Given the description of an element on the screen output the (x, y) to click on. 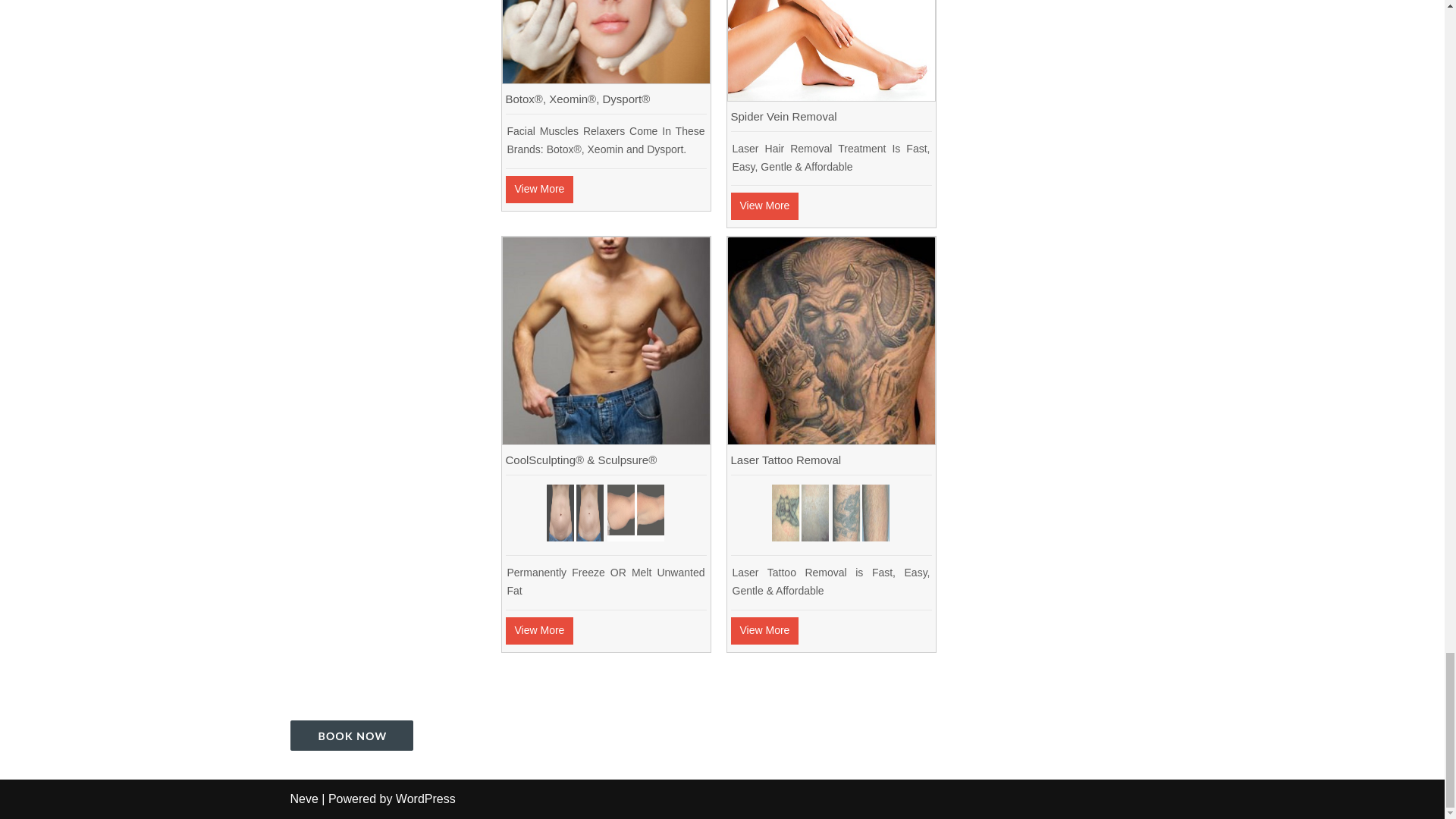
Spider Vein Removal (831, 96)
Laser Tattoo Removal (831, 440)
Tattoo Leg Copy 1 (860, 512)
CoolSculpting Arms 800X300 (635, 512)
tattoo-rose-copy2 (799, 512)
